Given the description of an element on the screen output the (x, y) to click on. 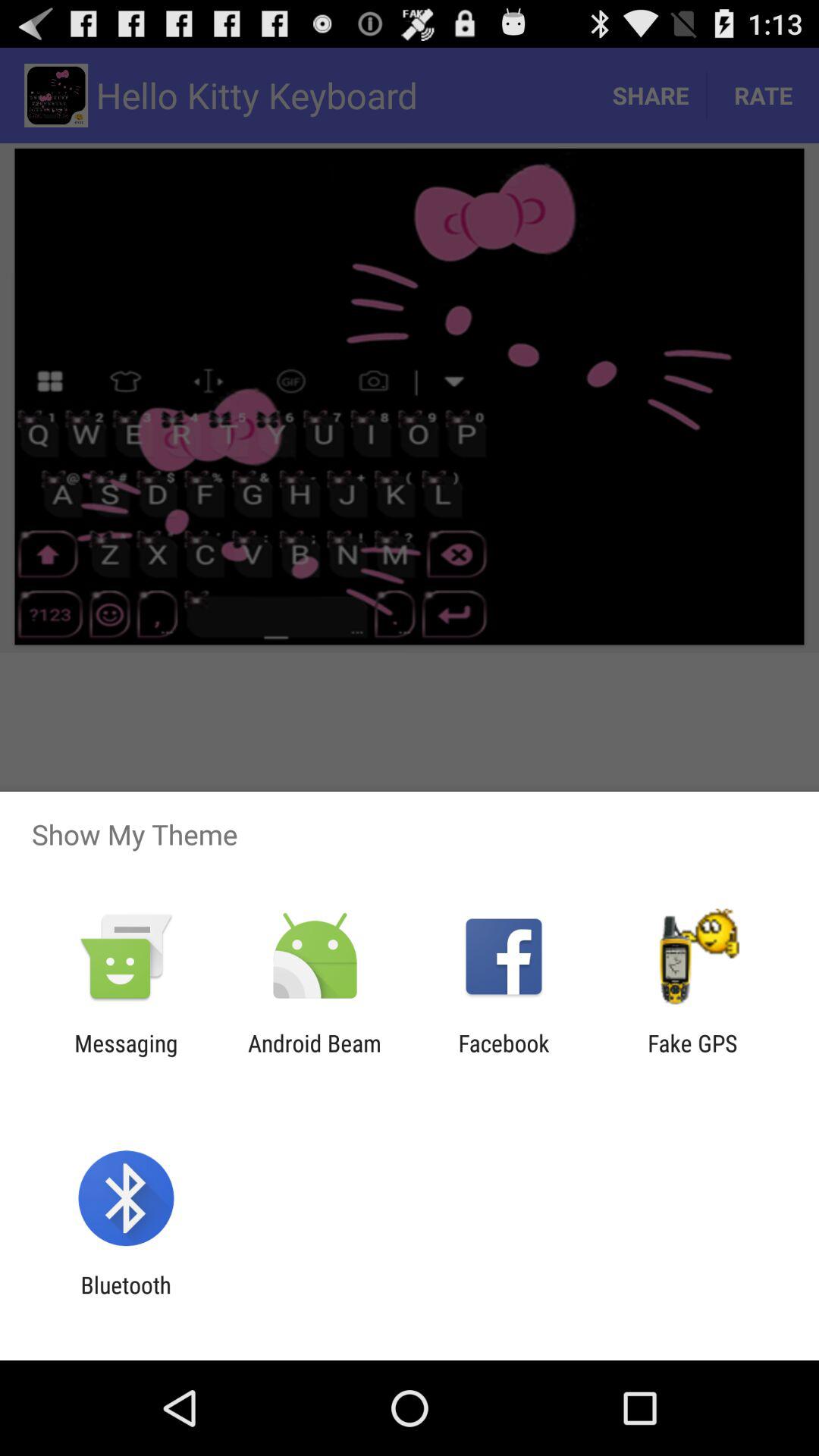
turn on the android beam item (314, 1056)
